Given the description of an element on the screen output the (x, y) to click on. 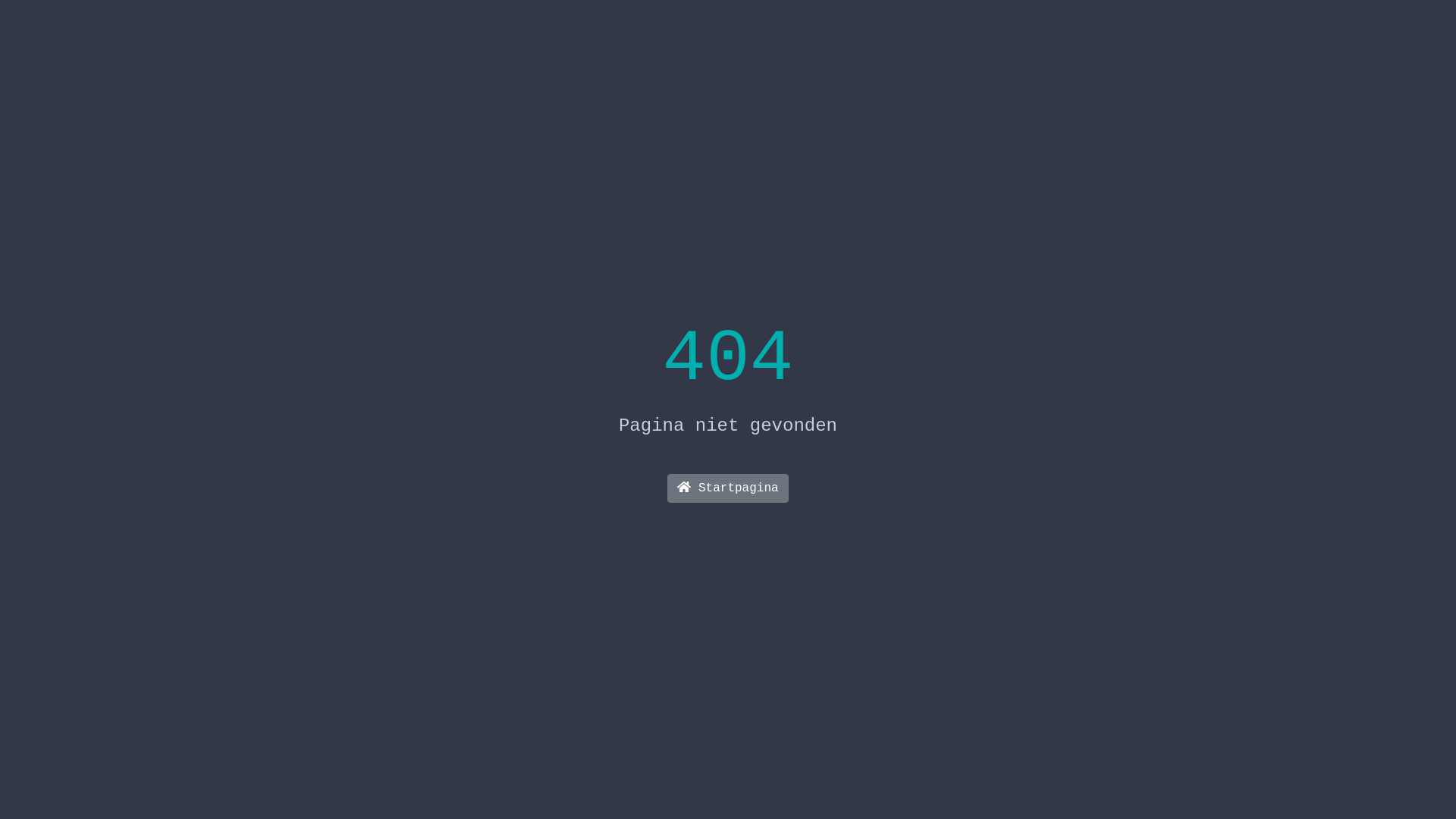
Startpagina Element type: text (727, 487)
